Given the description of an element on the screen output the (x, y) to click on. 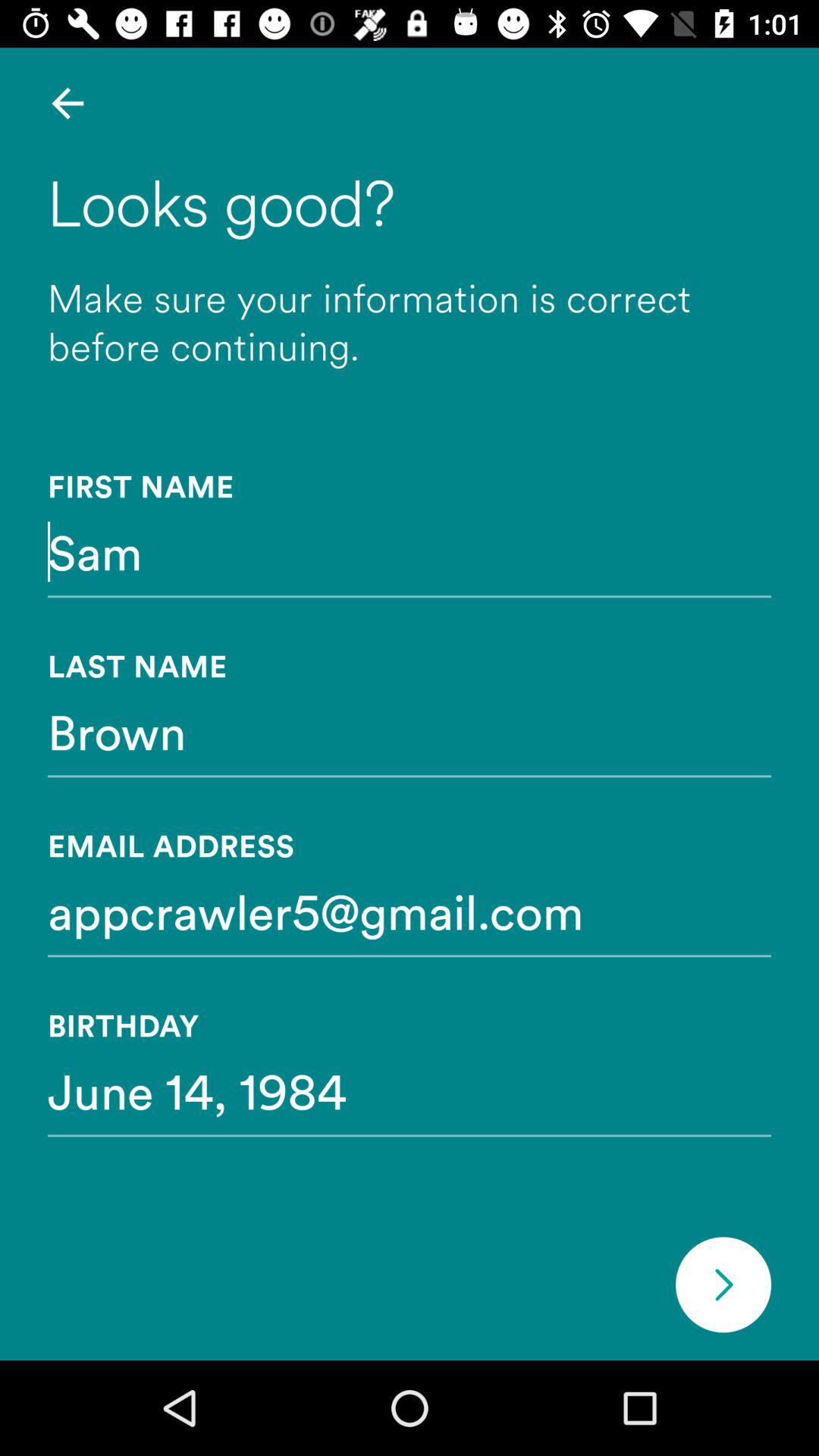
go to next section (723, 1284)
